Given the description of an element on the screen output the (x, y) to click on. 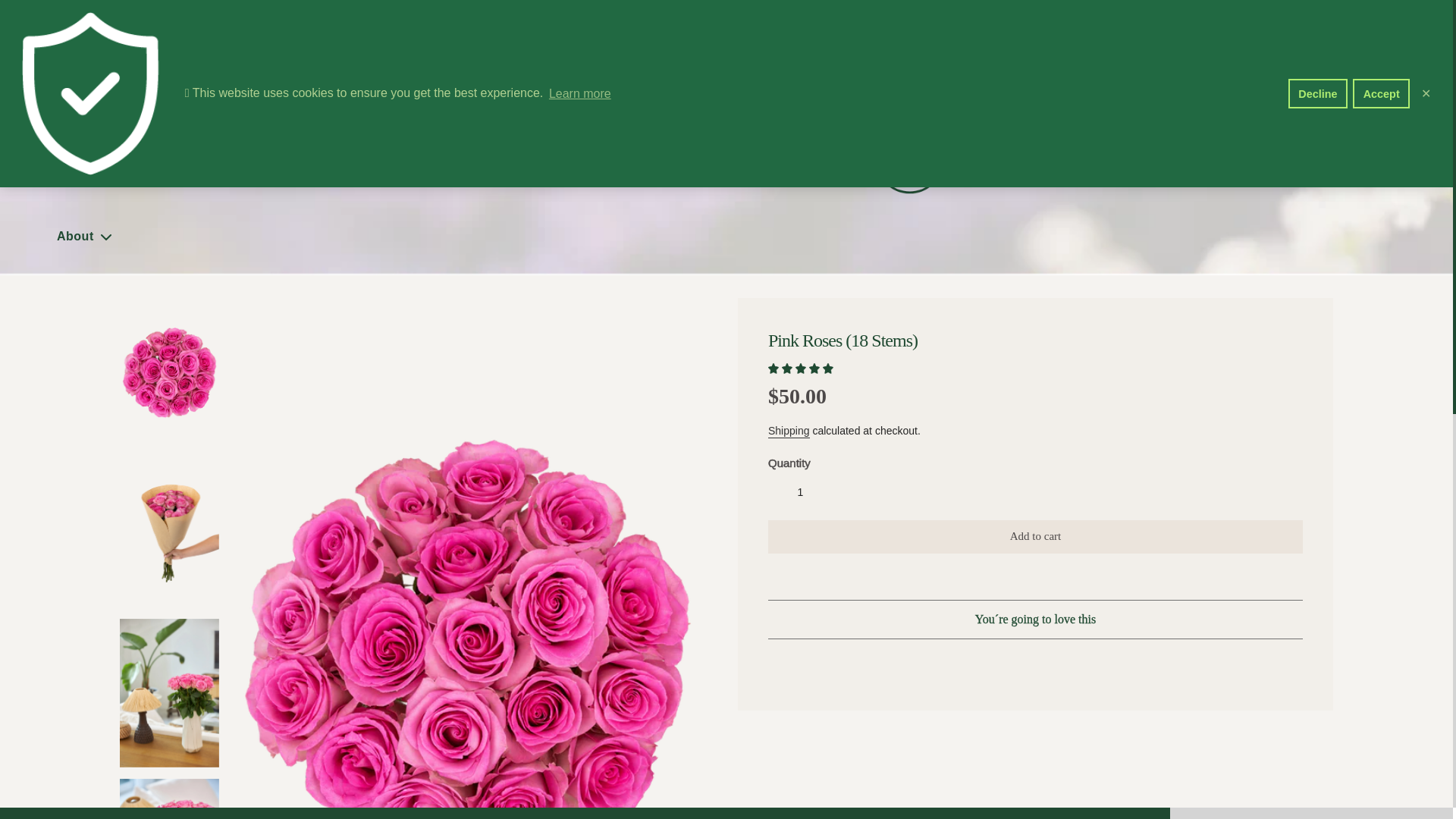
About (85, 236)
Shop (83, 160)
Home (73, 82)
Decline (1318, 93)
1 (800, 491)
Accept (1380, 93)
Learn more (579, 92)
